Given the description of an element on the screen output the (x, y) to click on. 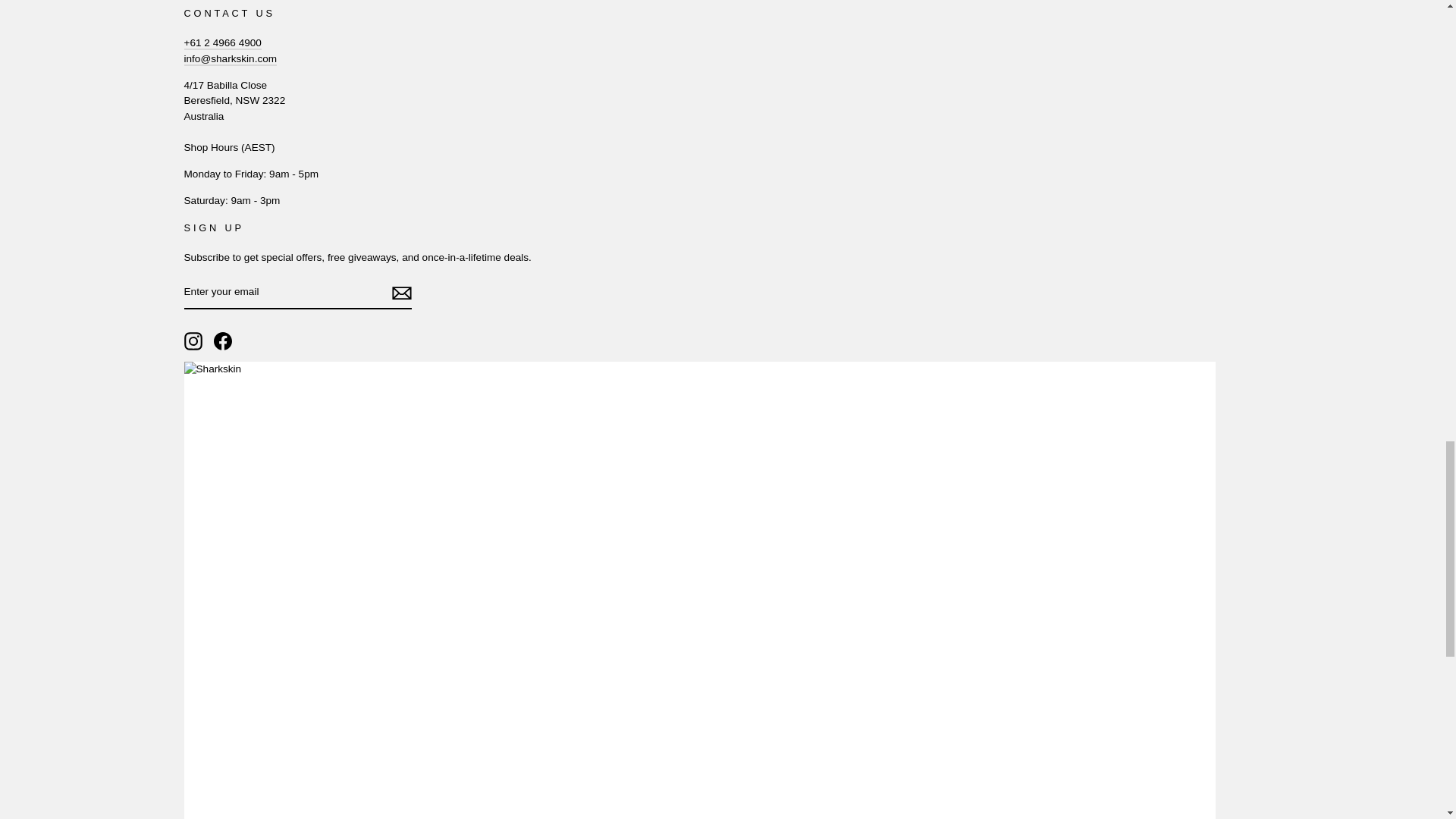
Sharkskin International on Facebook (222, 341)
Sharkskin International on Instagram (192, 341)
